Given the description of an element on the screen output the (x, y) to click on. 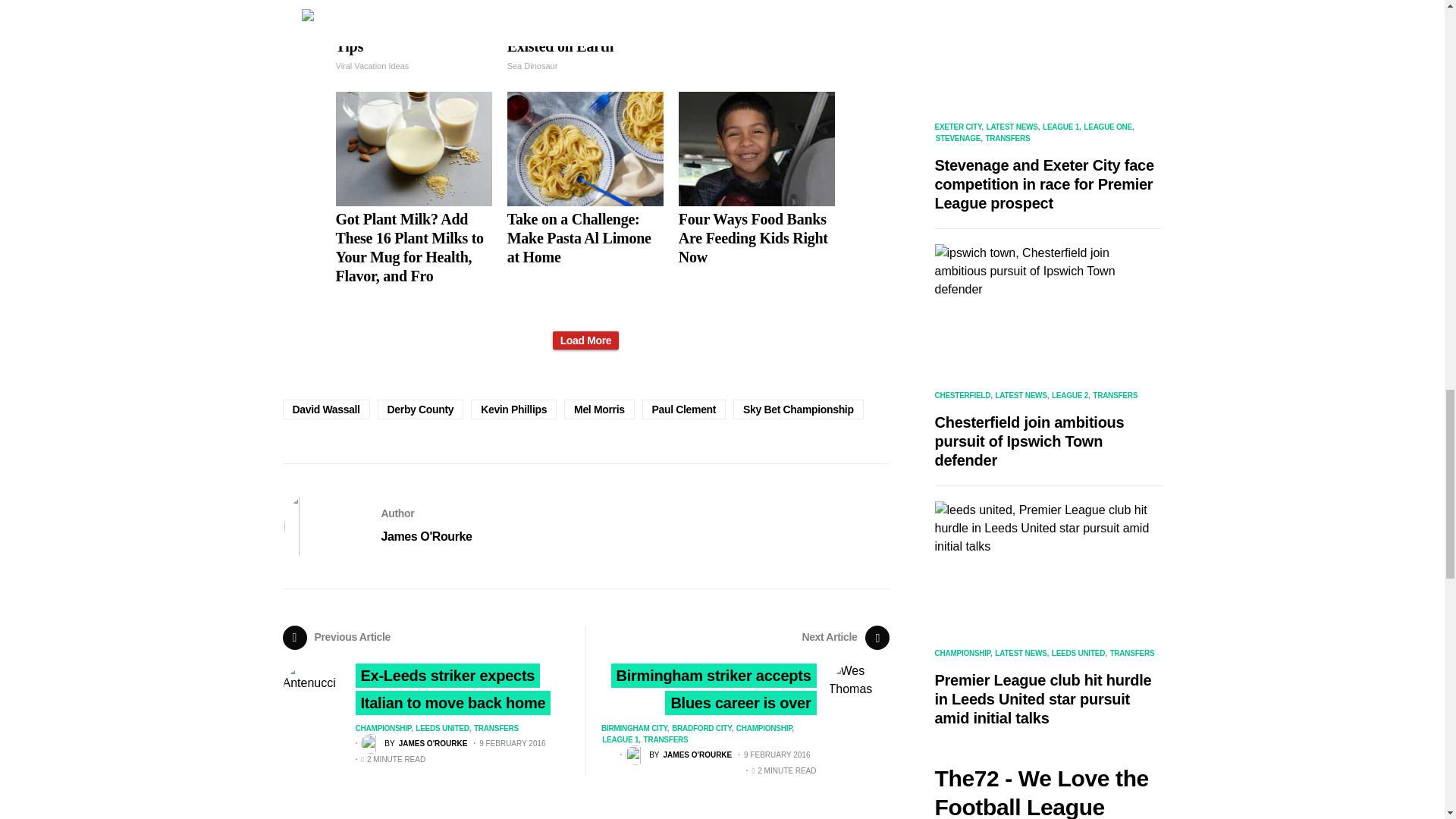
View all posts by James O'Rourke (679, 754)
View all posts by James O'Rourke (414, 743)
